Given the description of an element on the screen output the (x, y) to click on. 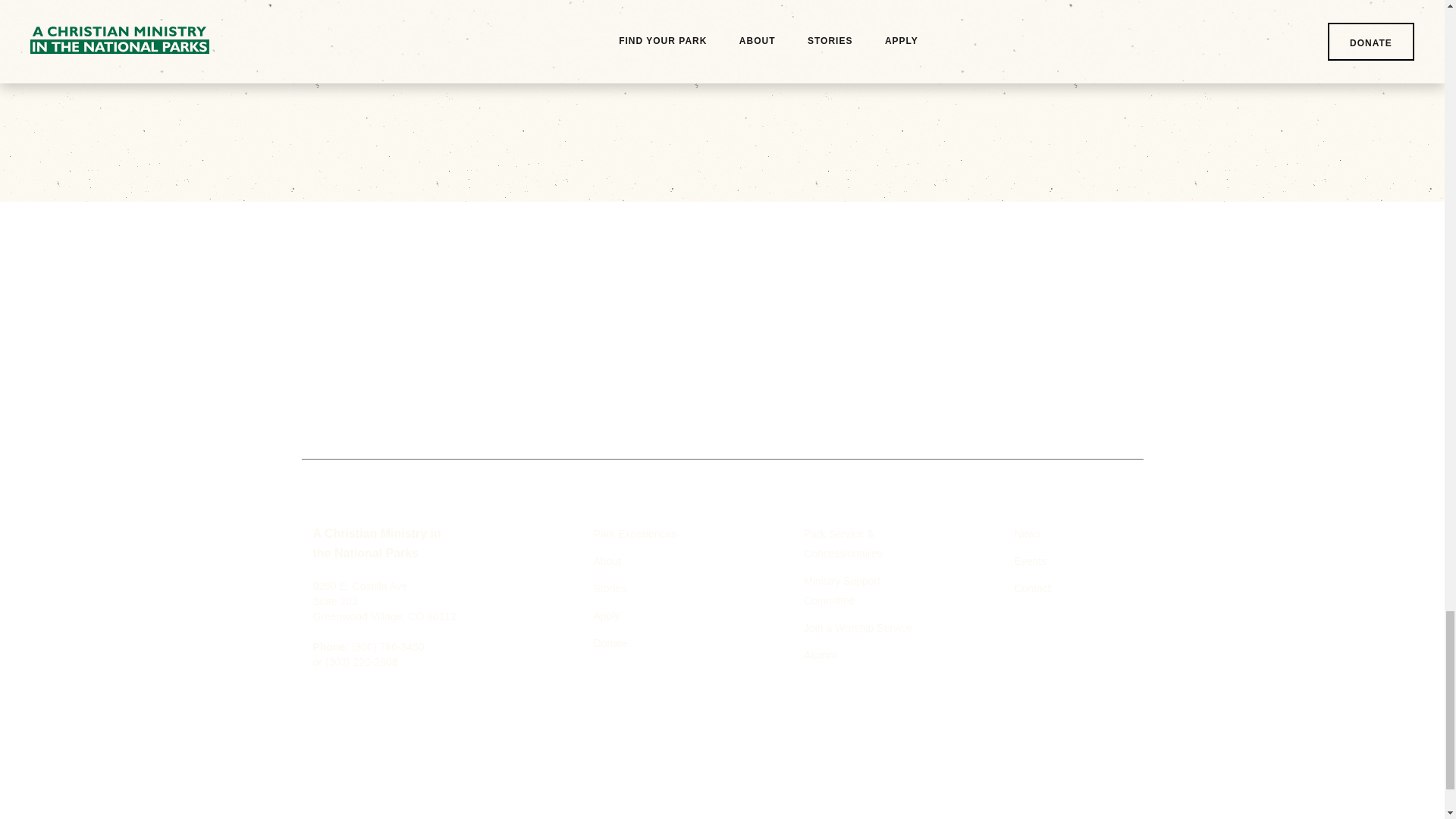
Subscribe (883, 370)
Submit (947, 116)
Stories (609, 588)
Park Experiences (634, 533)
Apply (606, 615)
Donate (609, 643)
Join a Worship Service (857, 627)
Subscribe (883, 370)
Ministry Support Committee (841, 590)
